Given the description of an element on the screen output the (x, y) to click on. 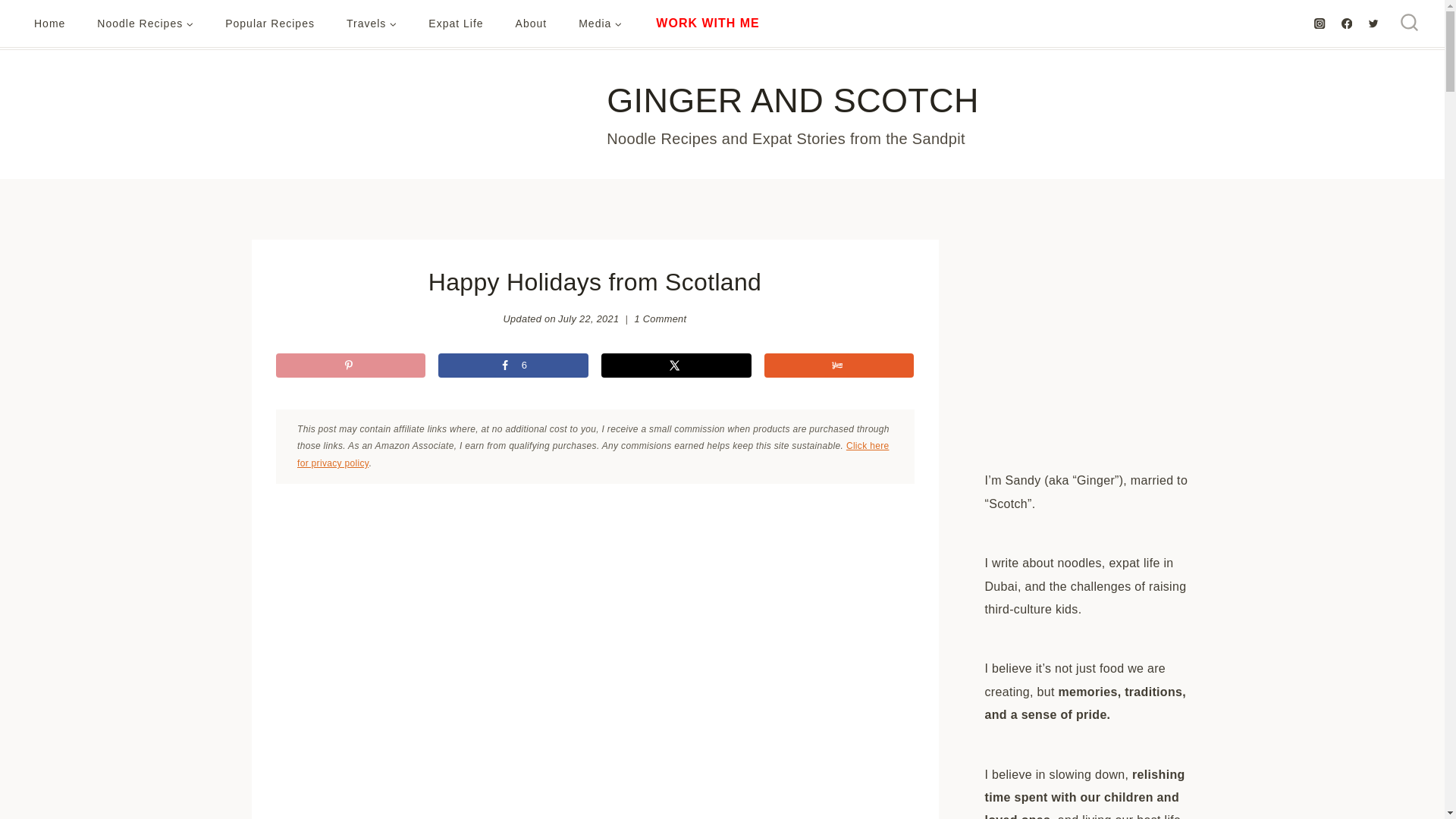
Click here for privacy policy (592, 454)
Save to Pinterest (351, 364)
Expat Life (455, 24)
About (531, 24)
Media (599, 24)
1 Comment (659, 319)
Share on Yummly (839, 364)
Share on X (676, 364)
1 Comment (659, 319)
